Given the description of an element on the screen output the (x, y) to click on. 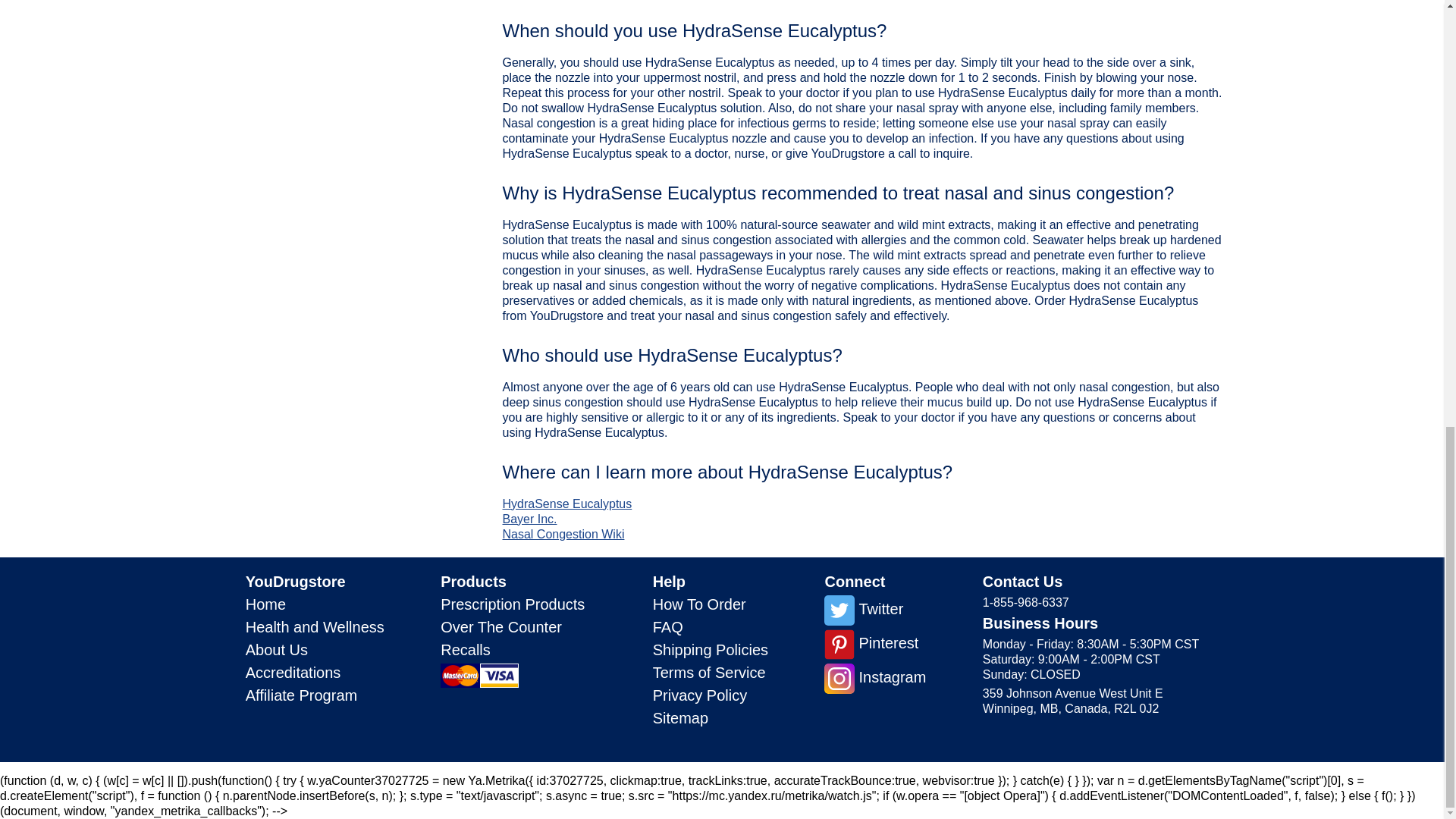
Nasal Congestion Wiki (563, 533)
HydraSense Eucalyptus (566, 503)
Bayer Inc. (529, 518)
